Given the description of an element on the screen output the (x, y) to click on. 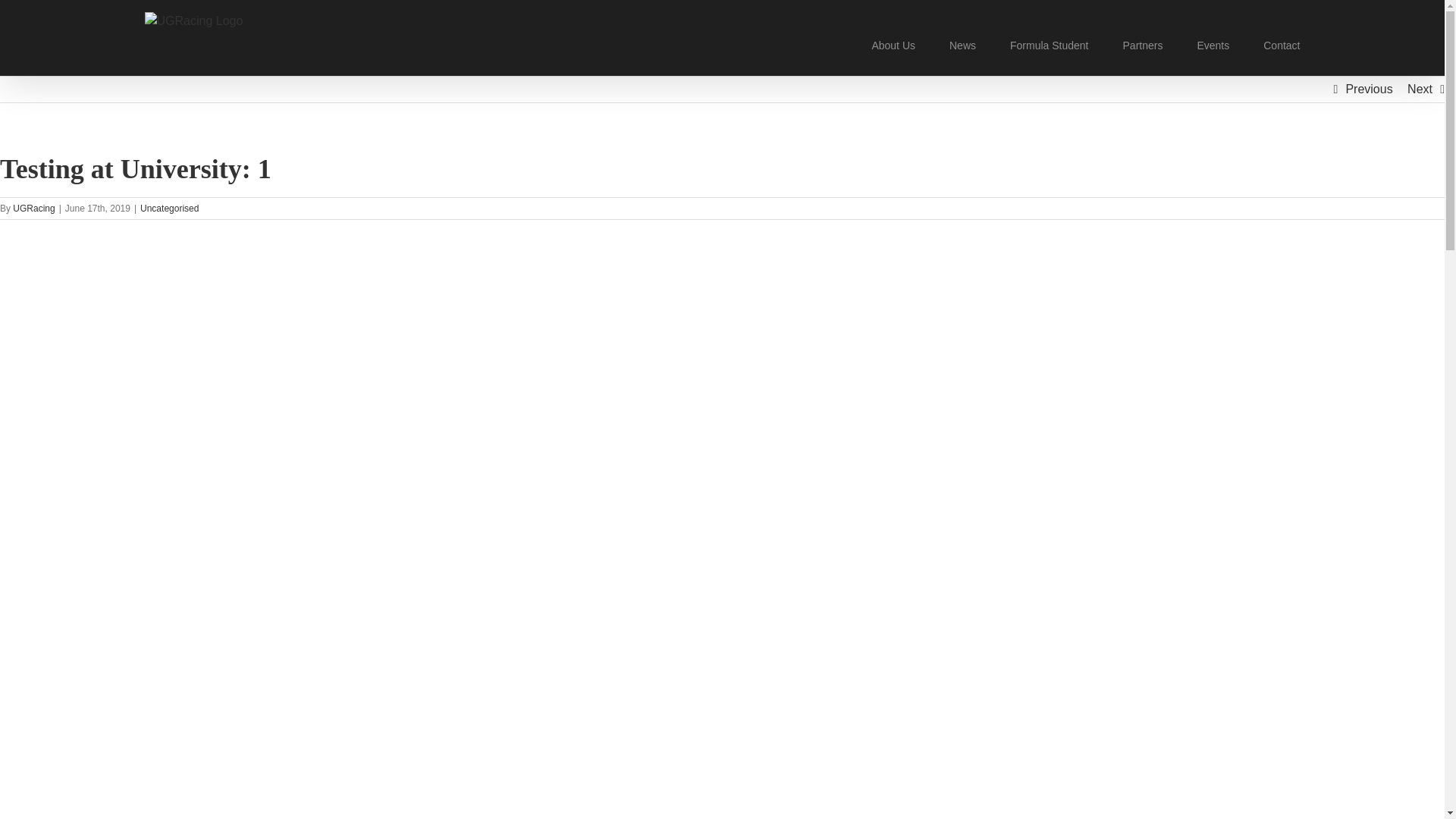
Formula Student (1049, 44)
Posts by UGRacing (34, 208)
Next (1419, 89)
Uncategorised (168, 208)
Previous (1368, 89)
UGRacing (34, 208)
